Given the description of an element on the screen output the (x, y) to click on. 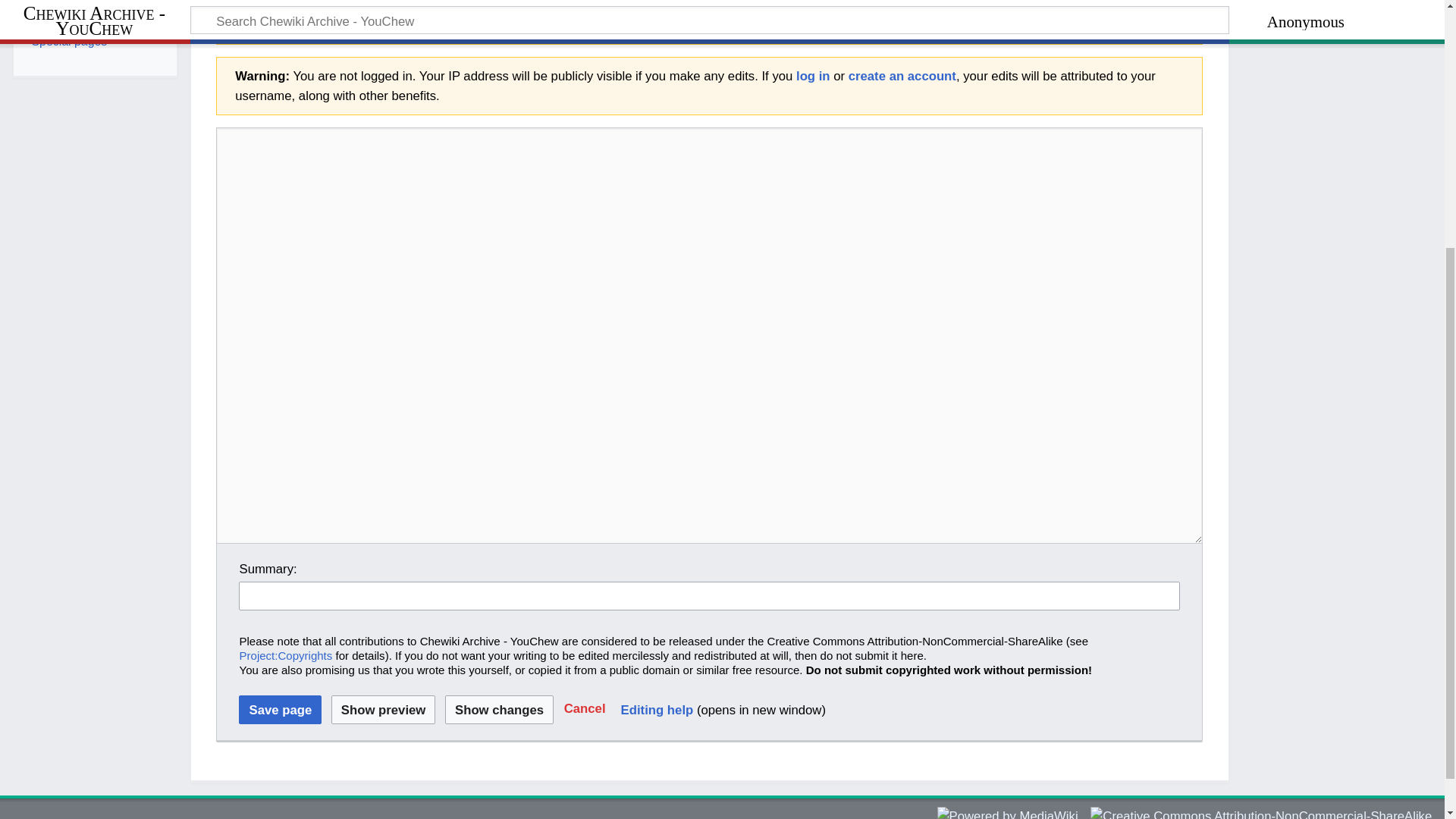
NinjaCoachZ (389, 8)
create an account (902, 75)
CaptainFleaSam (615, 8)
User:Stegblob (391, 25)
Show preview (383, 709)
contribs (468, 25)
talk (437, 8)
User talk:NinjaCoachZ (437, 8)
Editing help (657, 709)
Project:Copyrights (284, 655)
